Given the description of an element on the screen output the (x, y) to click on. 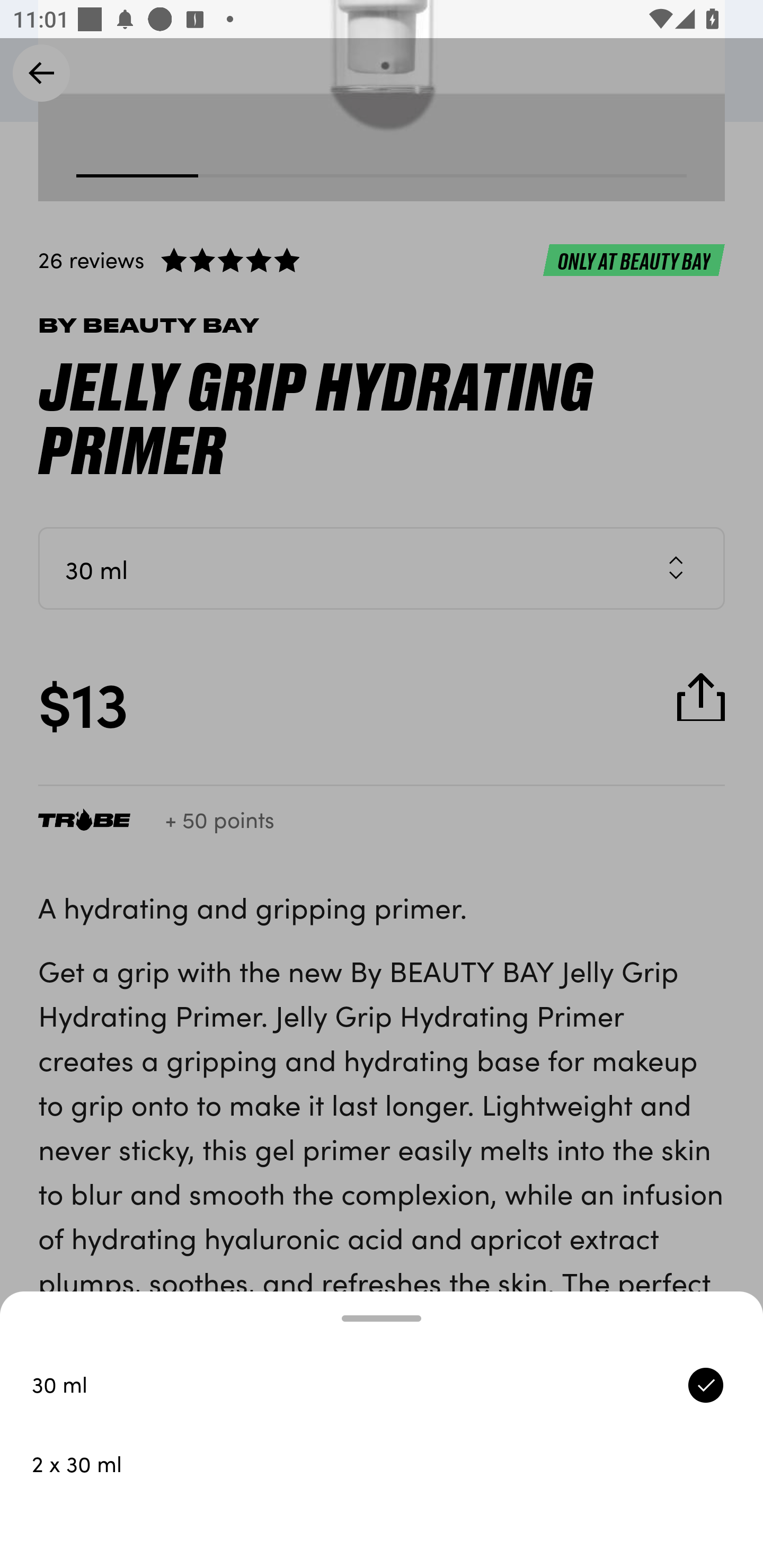
30 ml  (381, 1385)
2 x 30 ml (381, 1464)
